Given the description of an element on the screen output the (x, y) to click on. 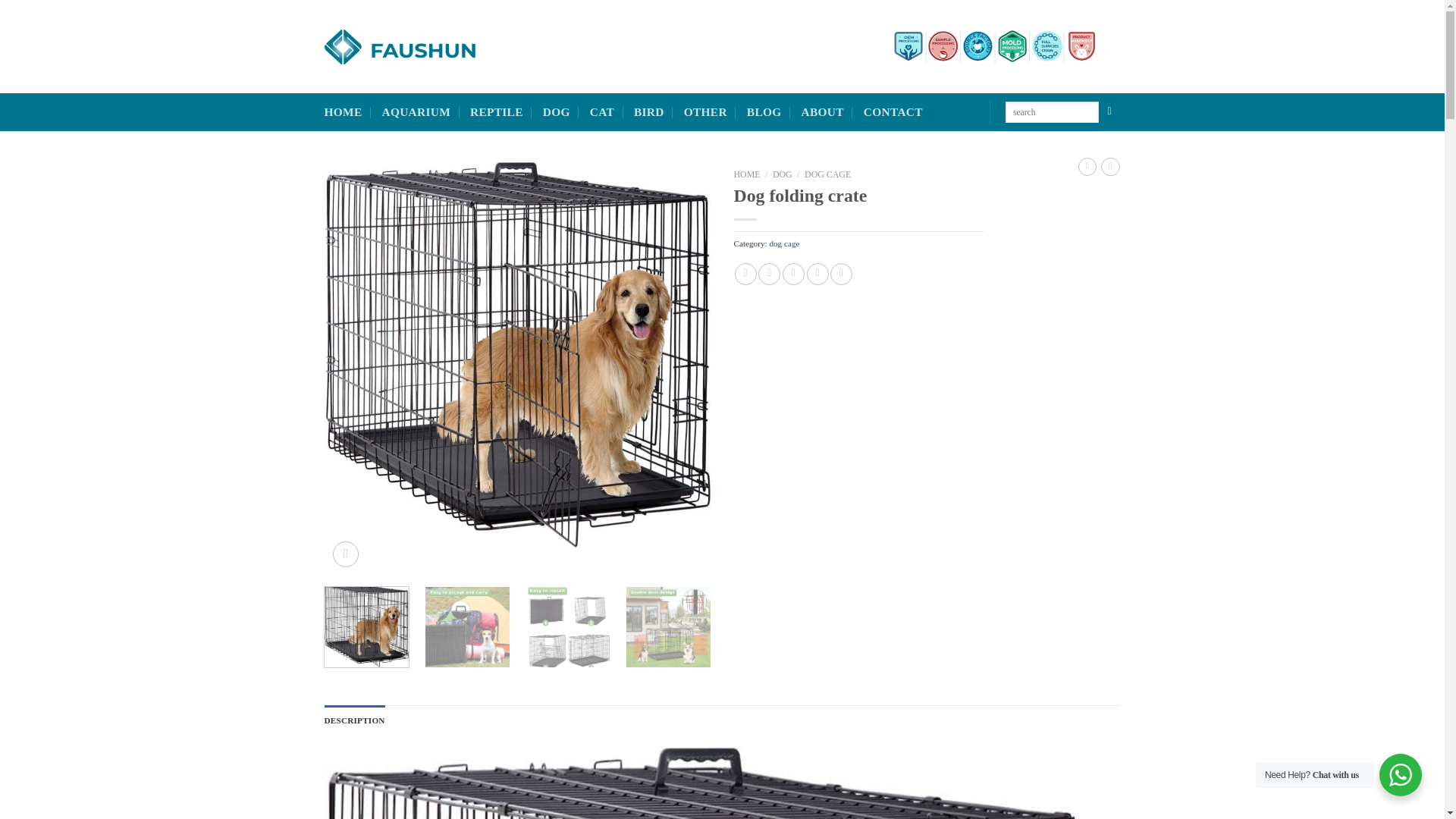
Share on Facebook (746, 273)
OTHER (705, 112)
BLOG (763, 112)
HOME (746, 173)
Search (1110, 111)
Zoom (345, 554)
Share on LinkedIn (840, 273)
CONTACT (893, 112)
Pin on Pinterest (817, 273)
dog cage (783, 243)
